Given the description of an element on the screen output the (x, y) to click on. 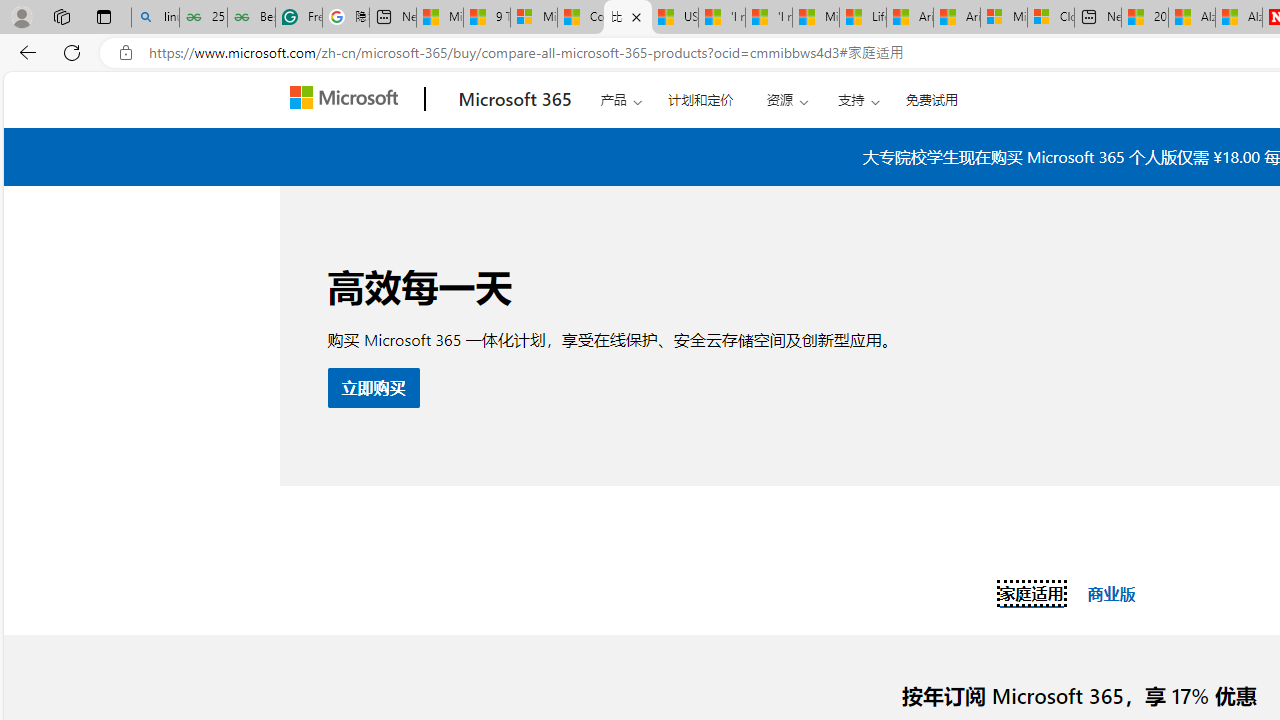
USA TODAY - MSN (674, 17)
20 Ways to Boost Your Protein Intake at Every Meal (1145, 17)
